Given the description of an element on the screen output the (x, y) to click on. 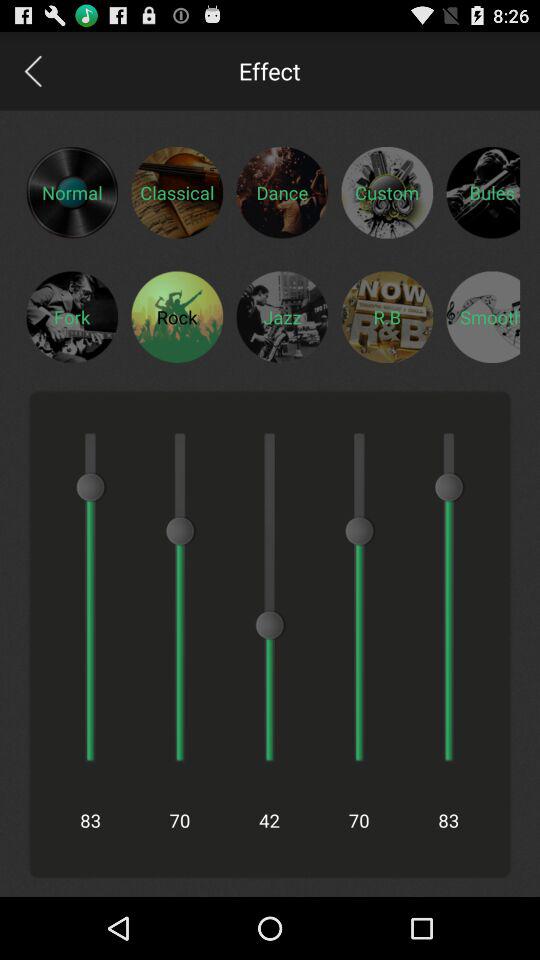
picks effect (483, 191)
